Given the description of an element on the screen output the (x, y) to click on. 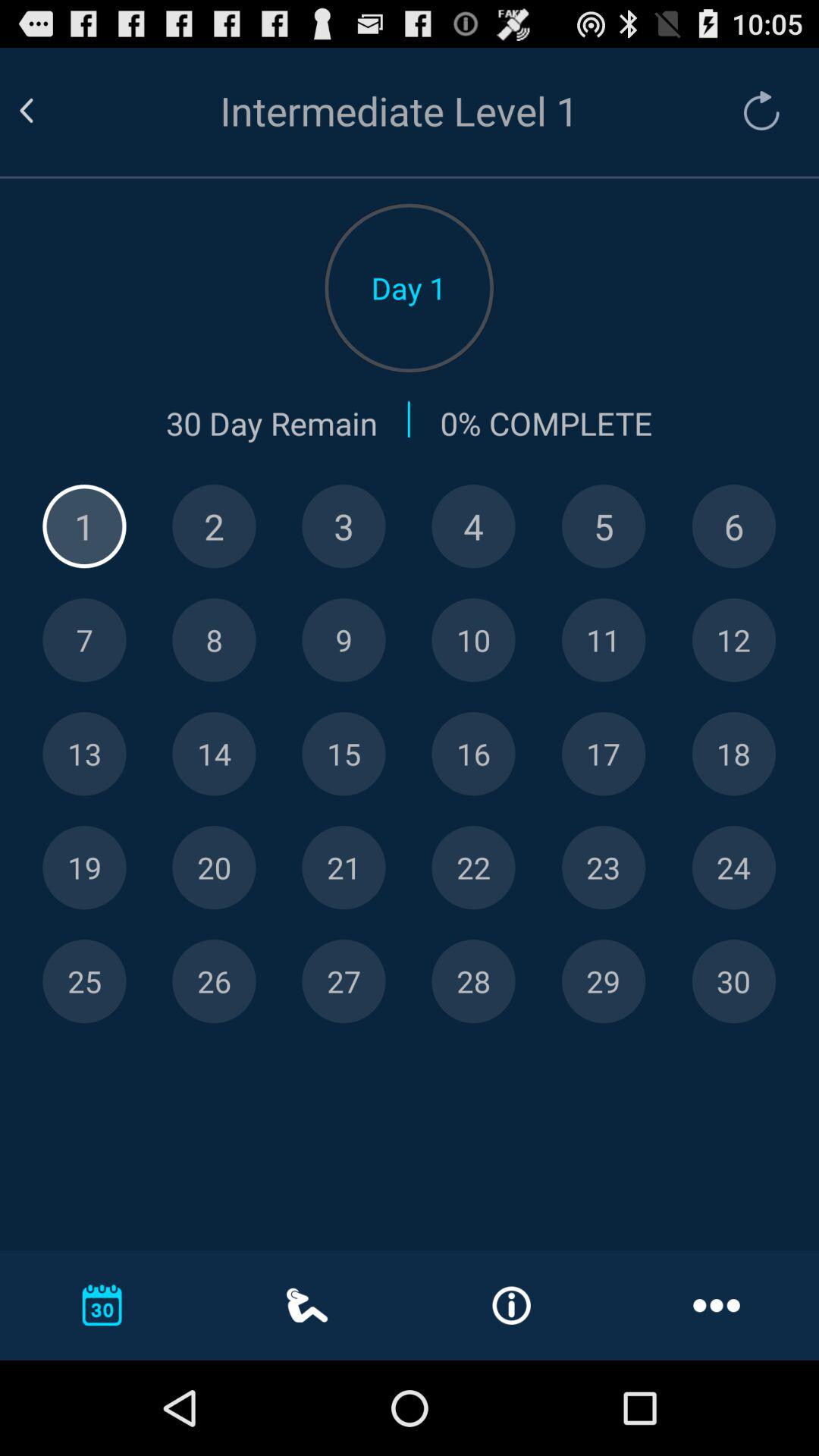
date selection (473, 867)
